Given the description of an element on the screen output the (x, y) to click on. 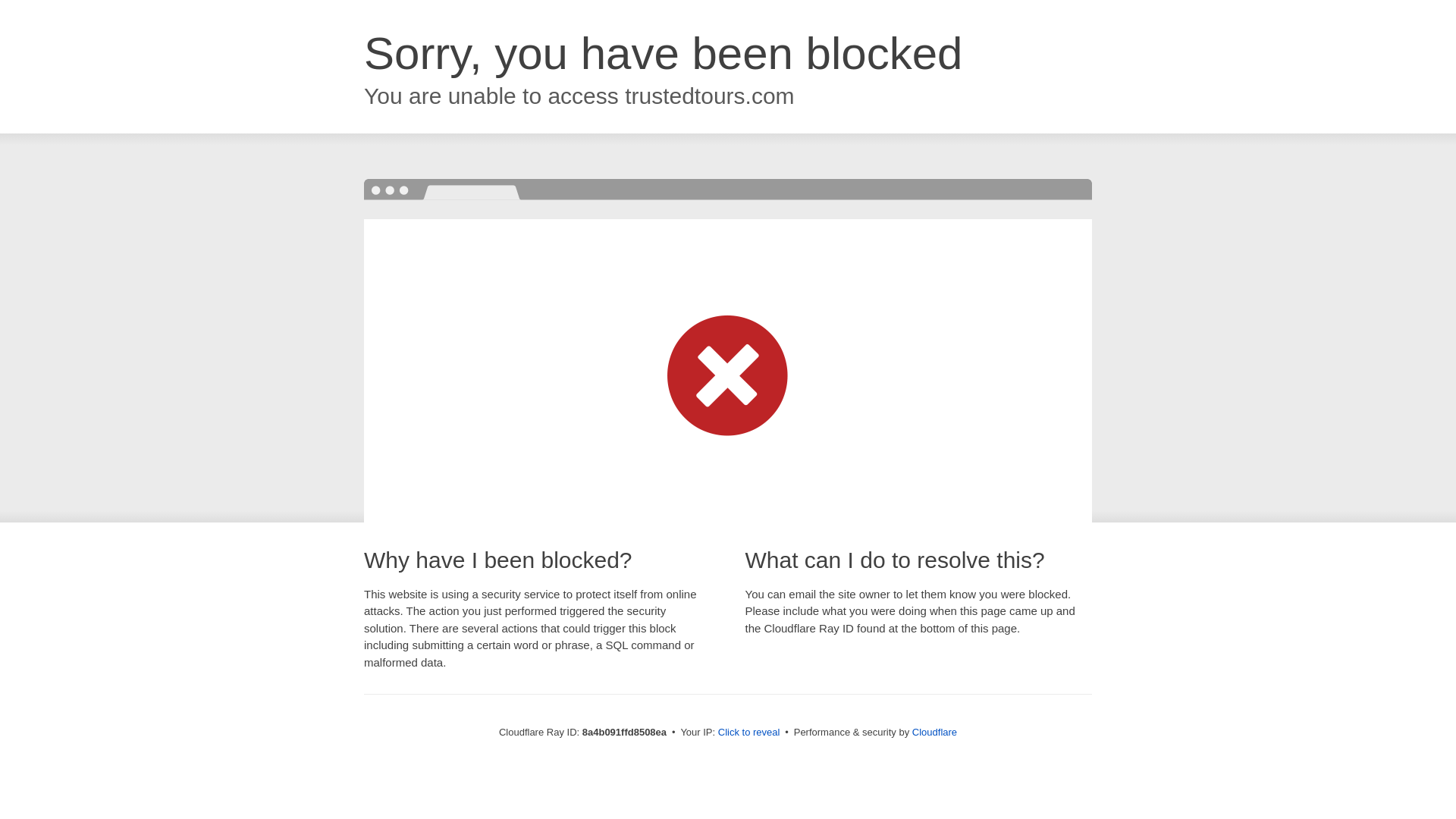
Cloudflare (934, 731)
Click to reveal (748, 732)
